Given the description of an element on the screen output the (x, y) to click on. 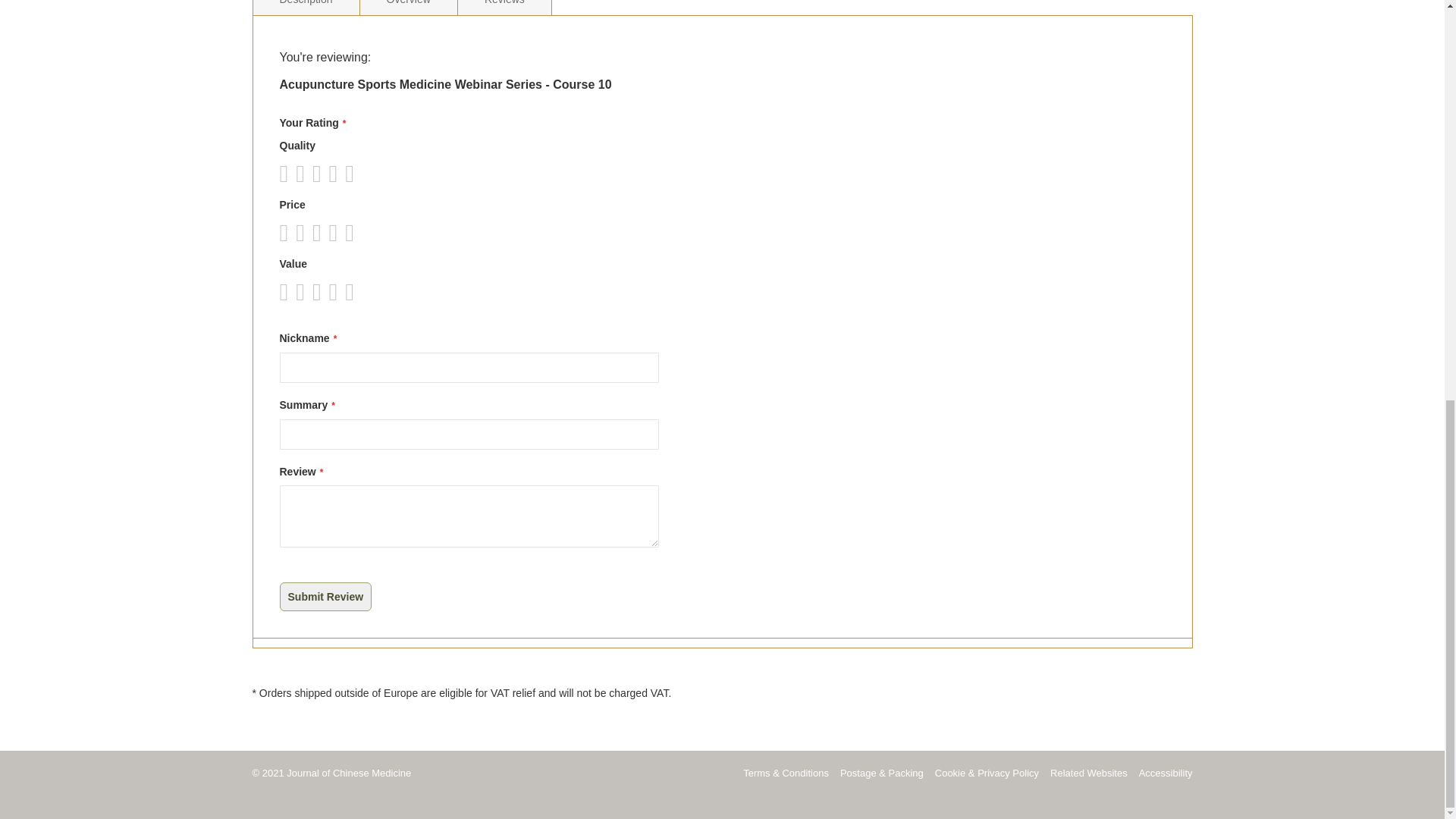
3 stars (304, 291)
5 stars (320, 173)
5 stars (320, 232)
4 stars (312, 173)
